Given the description of an element on the screen output the (x, y) to click on. 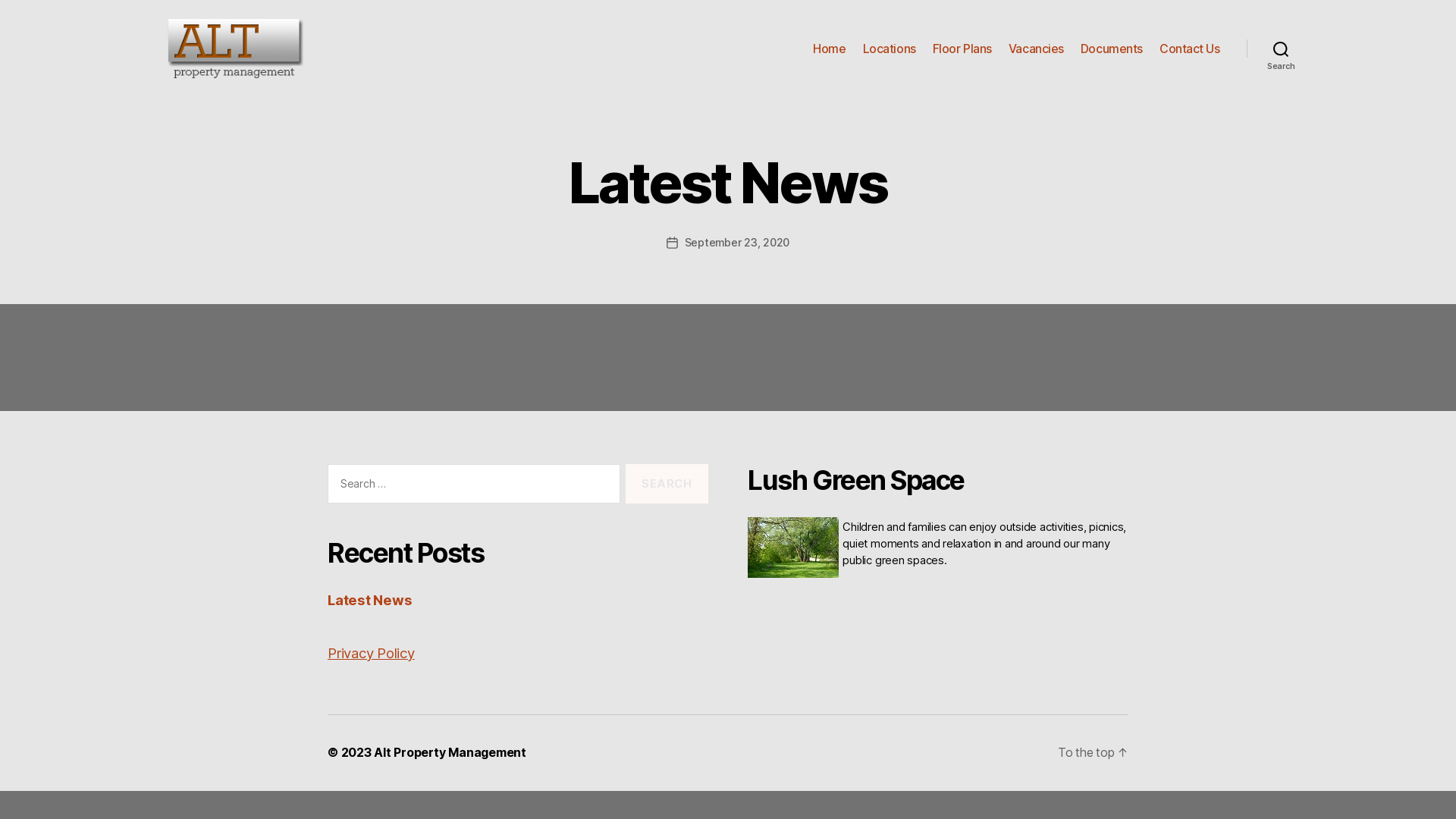
Floor Plans Element type: text (961, 48)
Documents Element type: text (1111, 48)
Vacancies Element type: text (1035, 48)
Contact Us Element type: text (1189, 48)
Search Element type: text (666, 483)
Alt Property Management Element type: text (449, 752)
September 23, 2020 Element type: text (736, 241)
Locations Element type: text (889, 48)
UNCATEGORIZED Element type: text (394, 232)
Search Element type: text (1280, 48)
Privacy Policy Element type: text (370, 652)
Latest News Element type: text (369, 599)
Home Element type: text (828, 48)
